Given the description of an element on the screen output the (x, y) to click on. 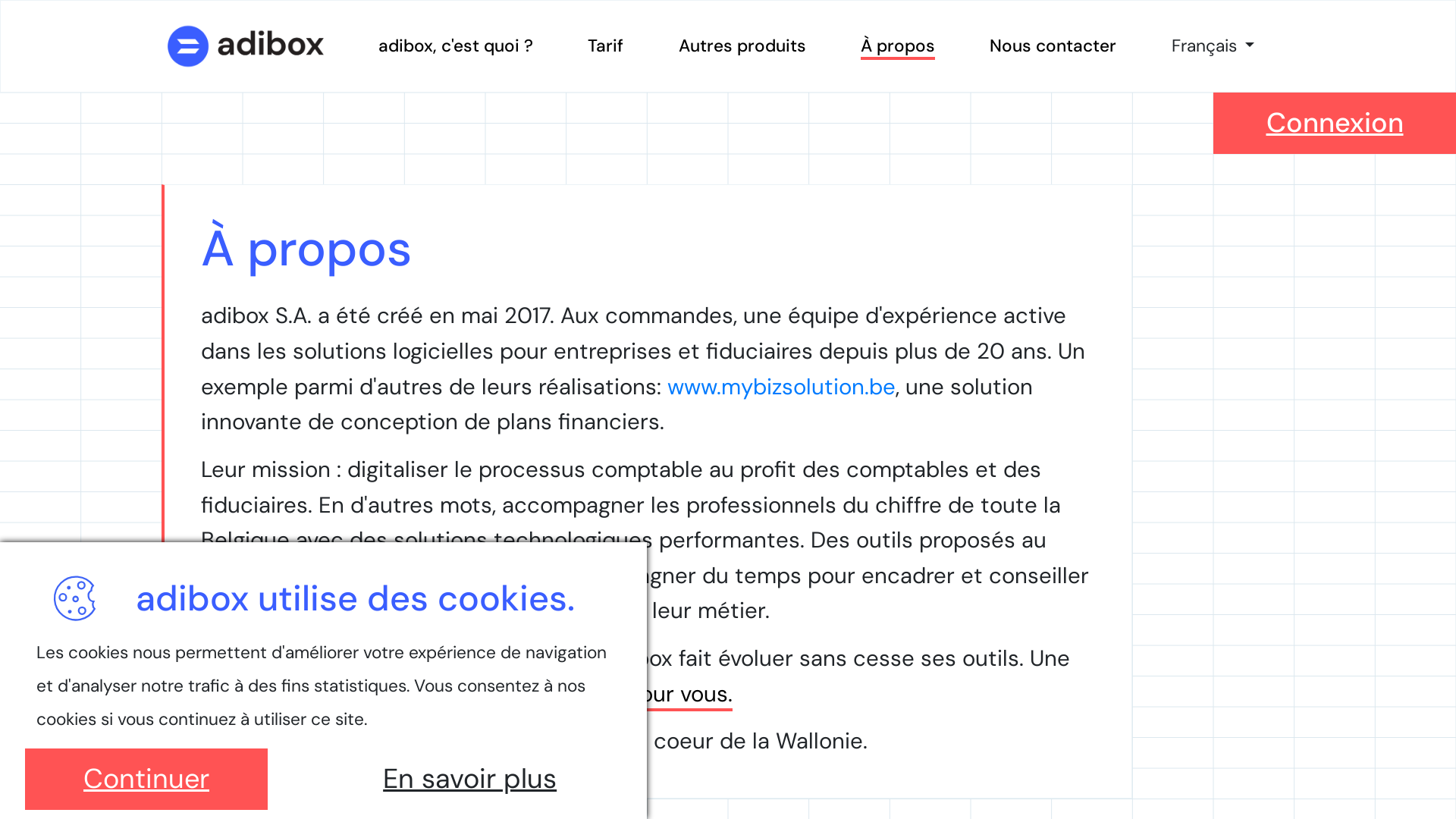
adibox, c'est quoi ? Element type: text (455, 45)
Autres produits Element type: text (742, 45)
En savoir plus Element type: text (469, 778)
Tarif Element type: text (605, 45)
Nous contacter Element type: text (1052, 45)
www.mybizsolution.be Element type: text (781, 386)
Continuer Element type: text (146, 778)
